Given the description of an element on the screen output the (x, y) to click on. 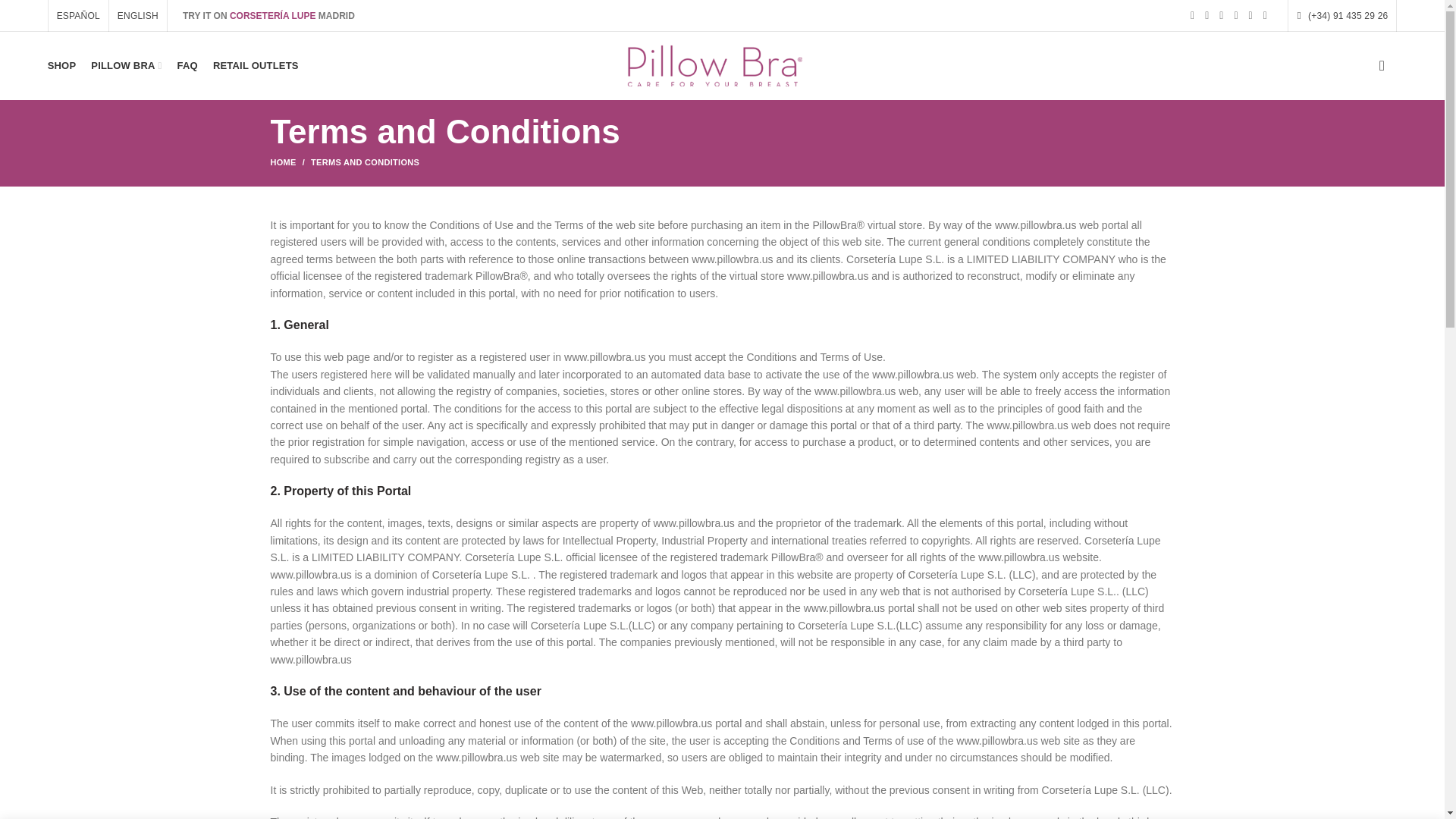
SHOP (62, 65)
ENGLISH (138, 15)
PILLOW BRA (125, 65)
